Given the description of an element on the screen output the (x, y) to click on. 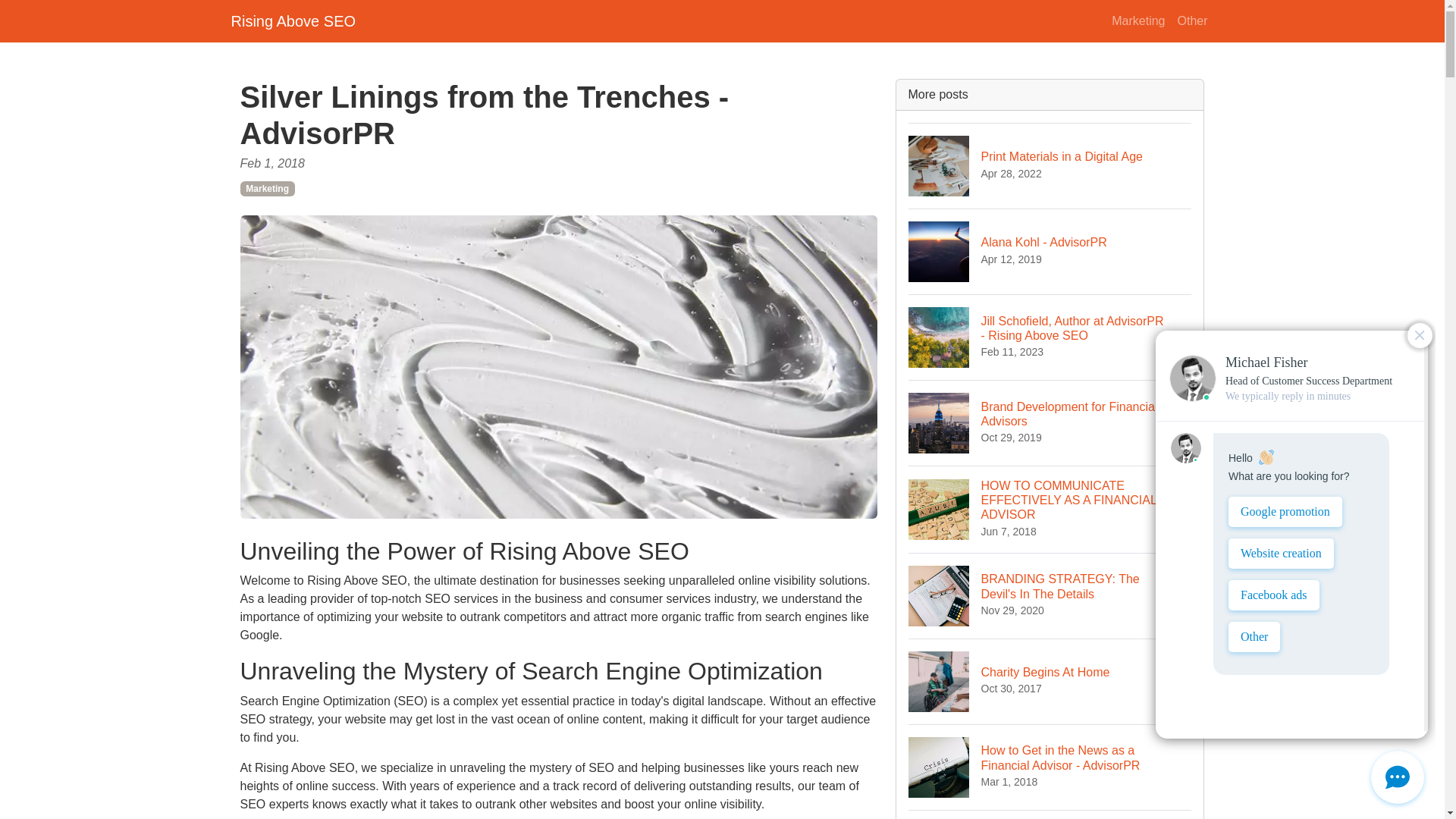
Marketing (1050, 165)
Other (1137, 20)
Rising Above SEO (1191, 20)
Marketing (292, 20)
